Given the description of an element on the screen output the (x, y) to click on. 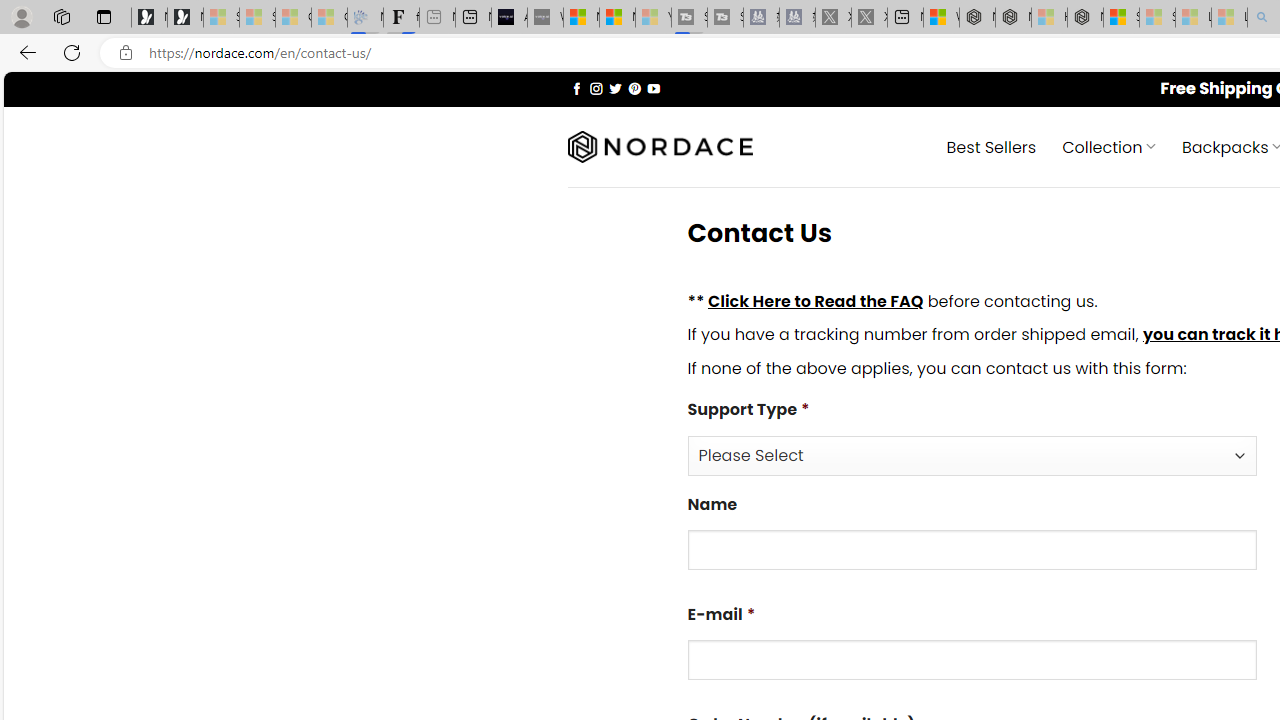
What's the best AI voice generator? - voice.ai - Sleeping (545, 17)
